Given the description of an element on the screen output the (x, y) to click on. 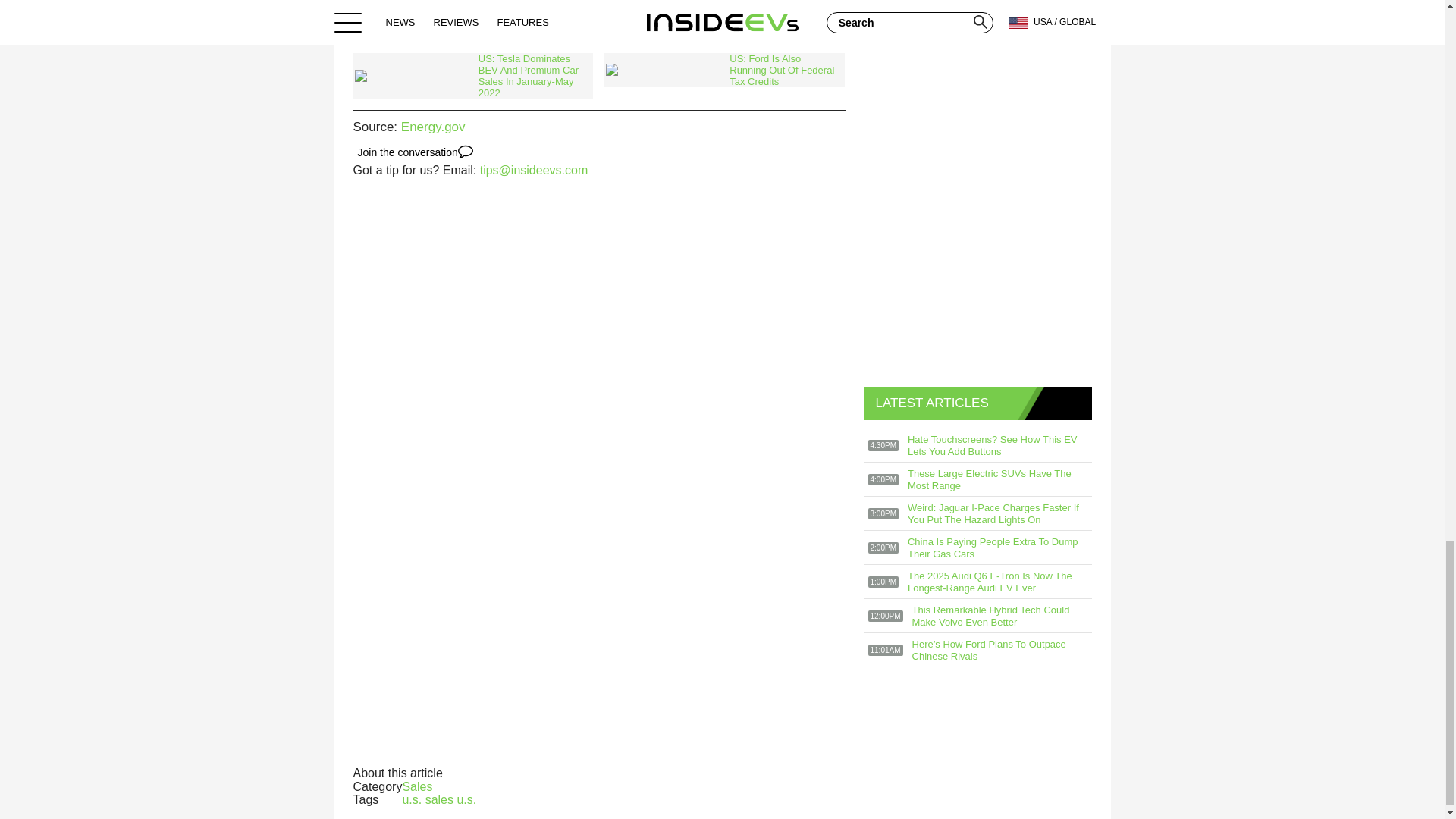
Join the conversation (415, 152)
Energy.gov (433, 126)
US: Ford Is Also Running Out Of Federal Tax Credits (724, 69)
